Given the description of an element on the screen output the (x, y) to click on. 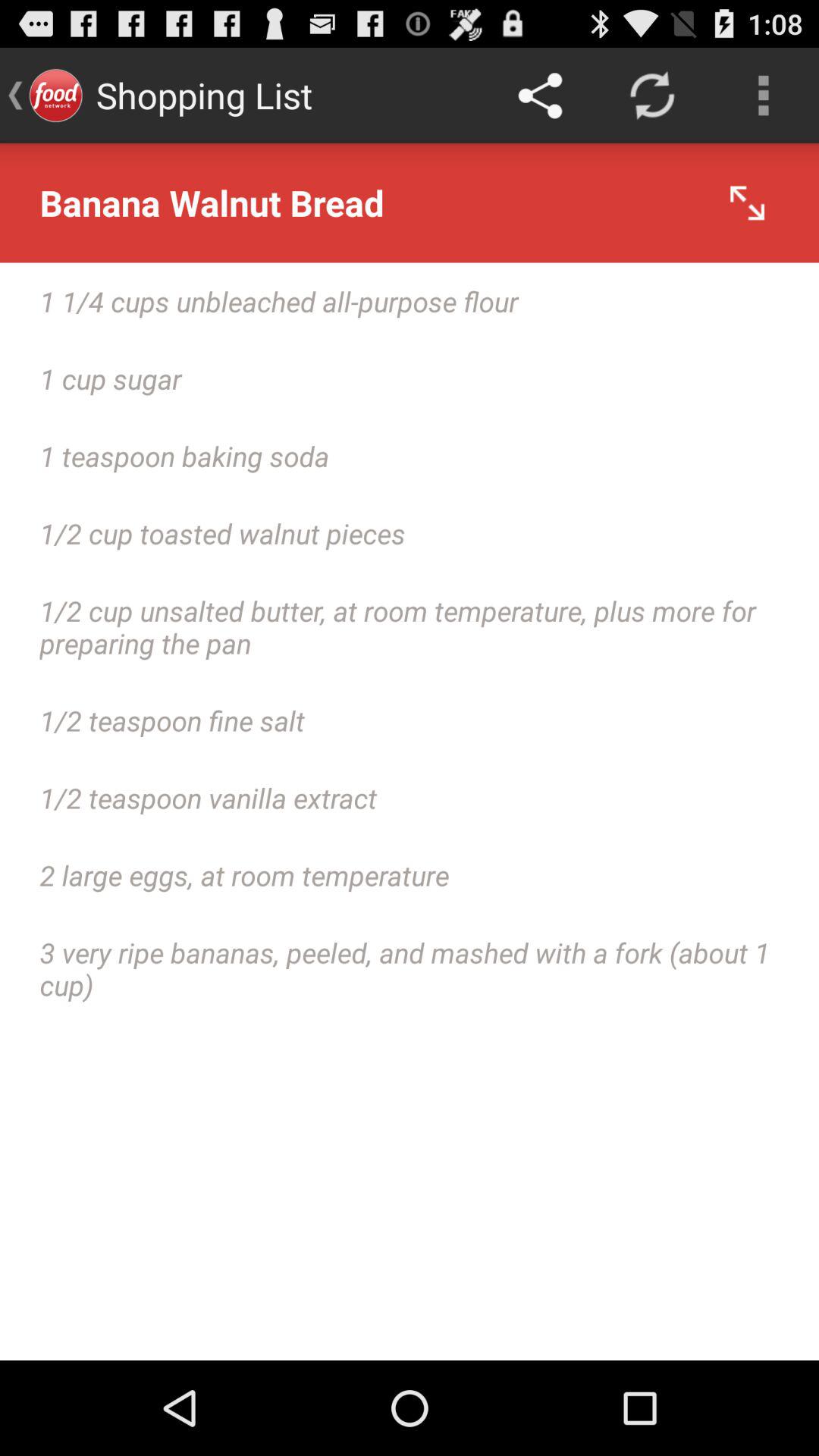
select the icon above the banana walnut bread icon (540, 95)
